Given the description of an element on the screen output the (x, y) to click on. 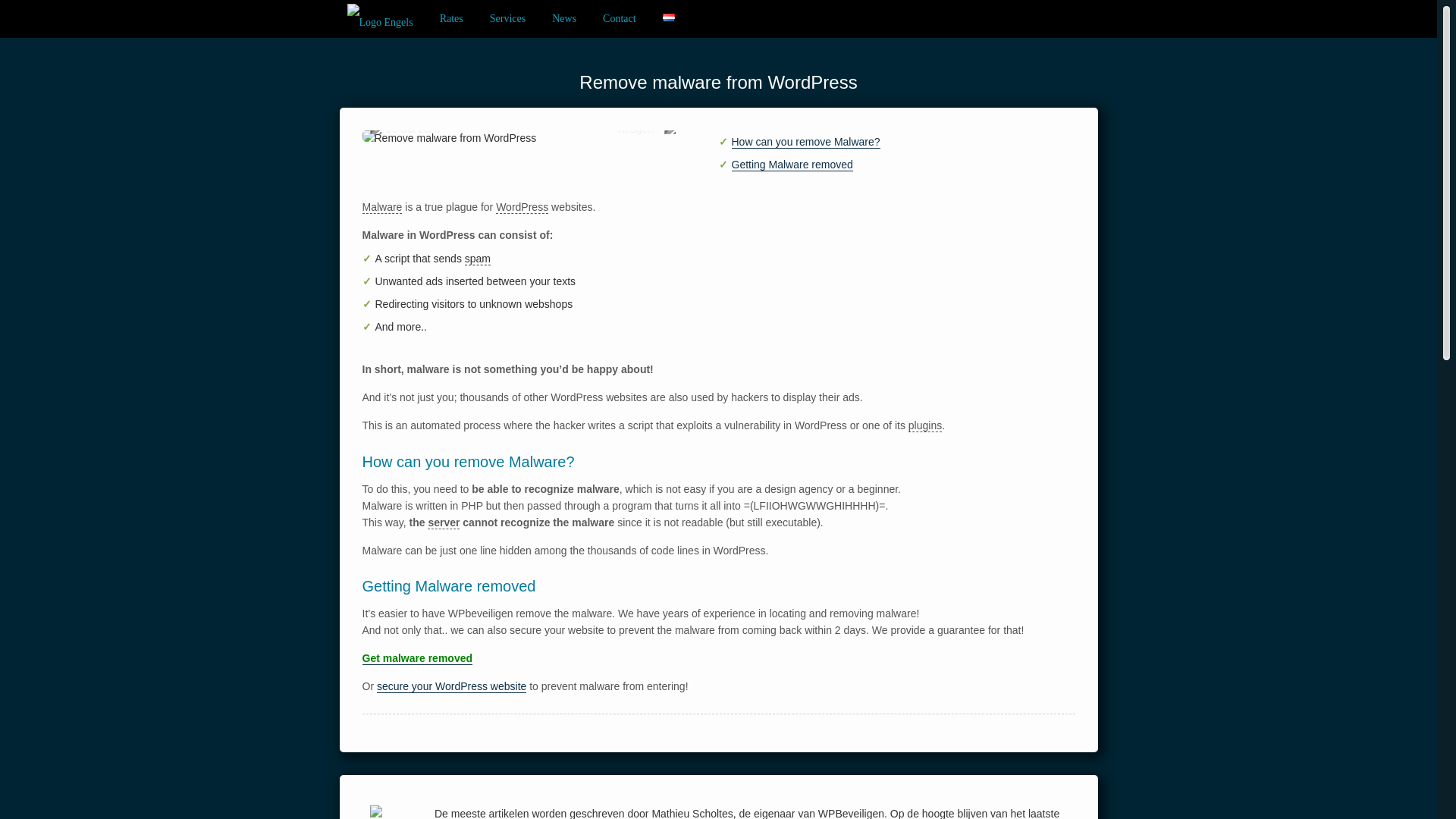
Reageer! (637, 129)
How can you remove Malware? (804, 141)
Malware (382, 206)
Get malware removed (417, 658)
News (563, 18)
plugins (925, 425)
spam (477, 258)
secure your WordPress website (451, 686)
Services (506, 18)
server (444, 522)
Contact (619, 18)
Rates (451, 18)
WordPress (522, 206)
Getting Malware removed (790, 164)
